Given the description of an element on the screen output the (x, y) to click on. 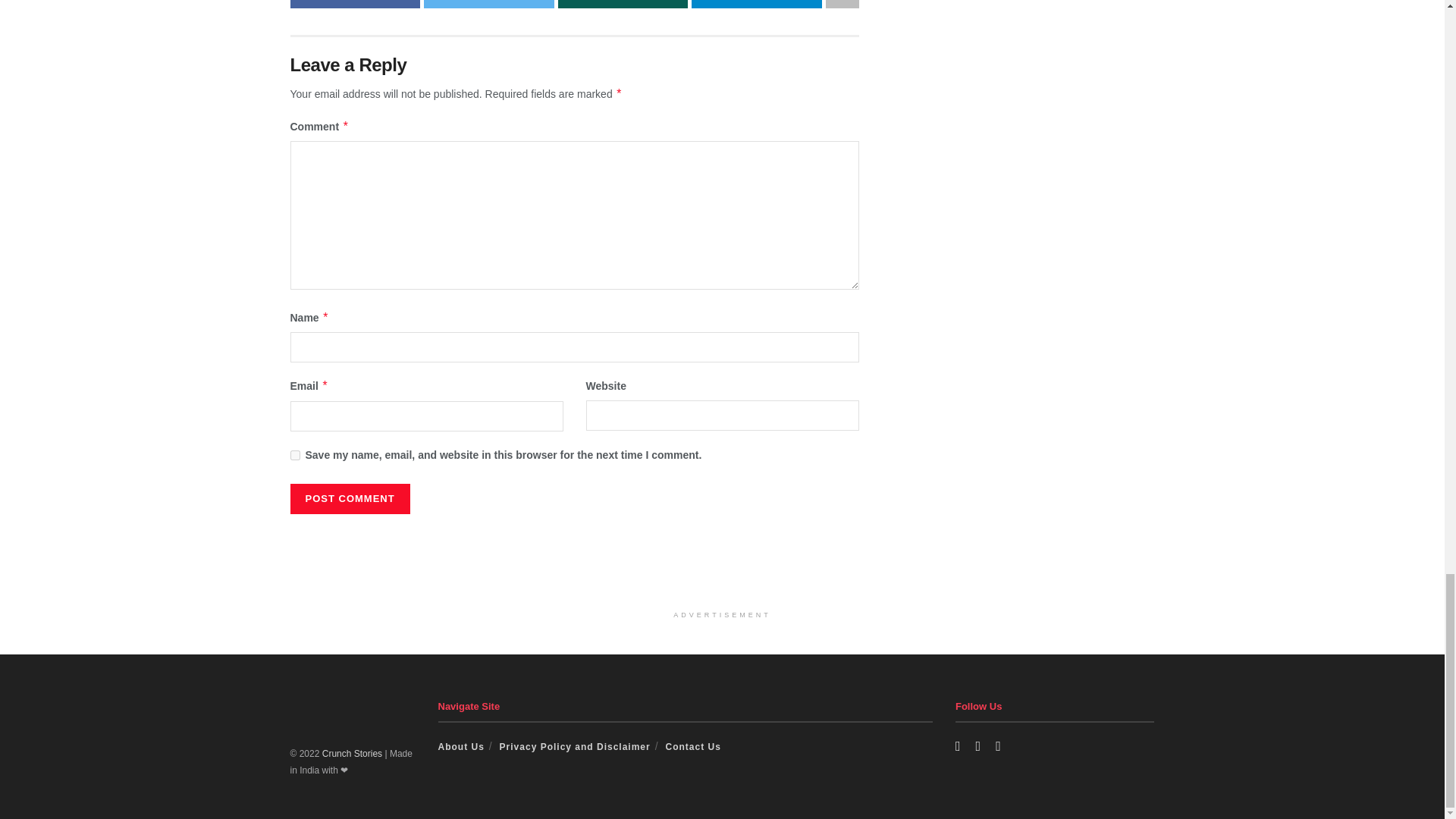
Crunch Stories (351, 753)
yes (294, 455)
Post Comment (349, 499)
